Given the description of an element on the screen output the (x, y) to click on. 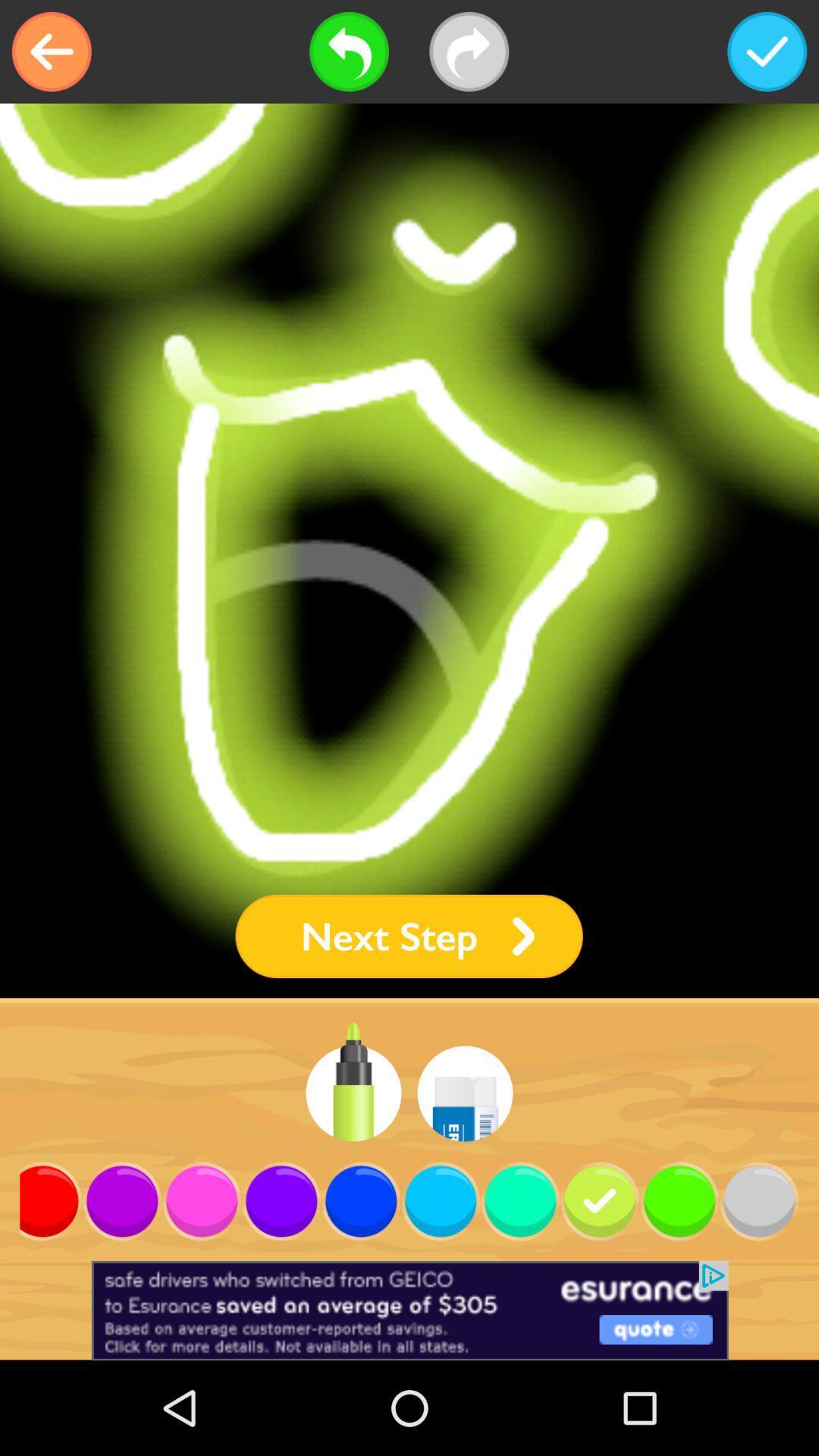
turn off the icon at the top right corner (767, 51)
